Given the description of an element on the screen output the (x, y) to click on. 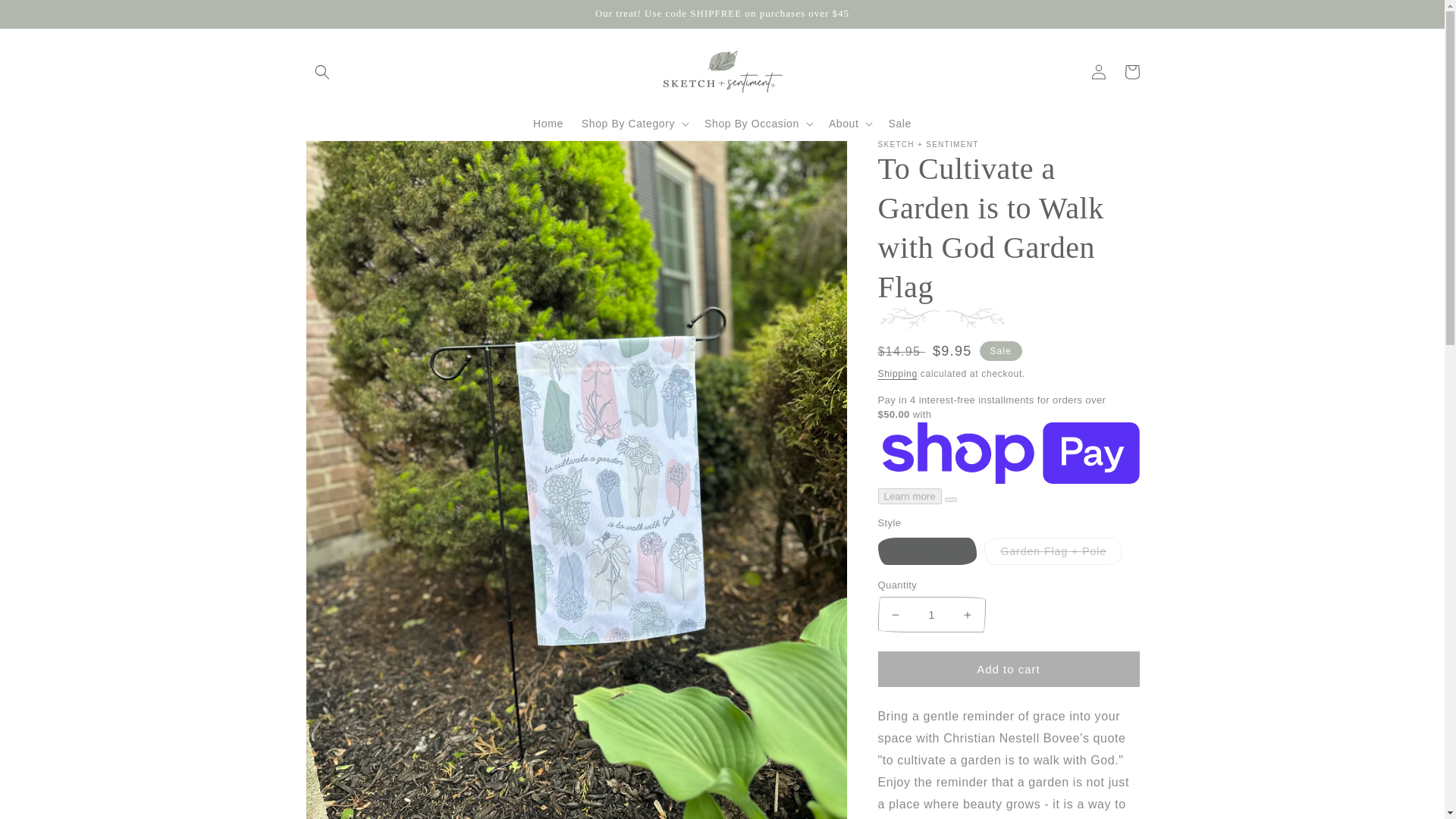
Skip to content (45, 17)
1 (931, 614)
